Given the description of an element on the screen output the (x, y) to click on. 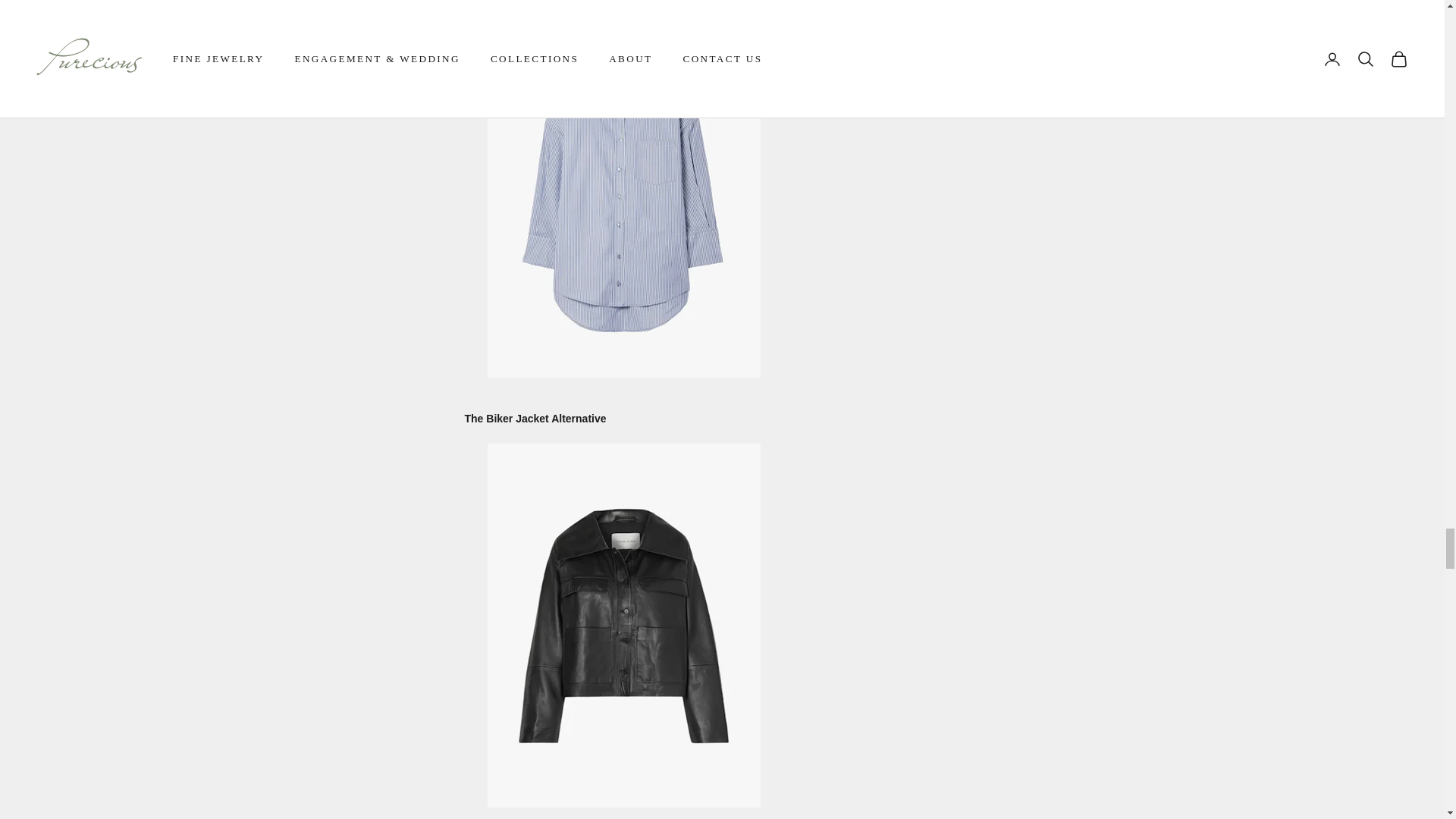
Striped Shirt (623, 194)
